Given the description of an element on the screen output the (x, y) to click on. 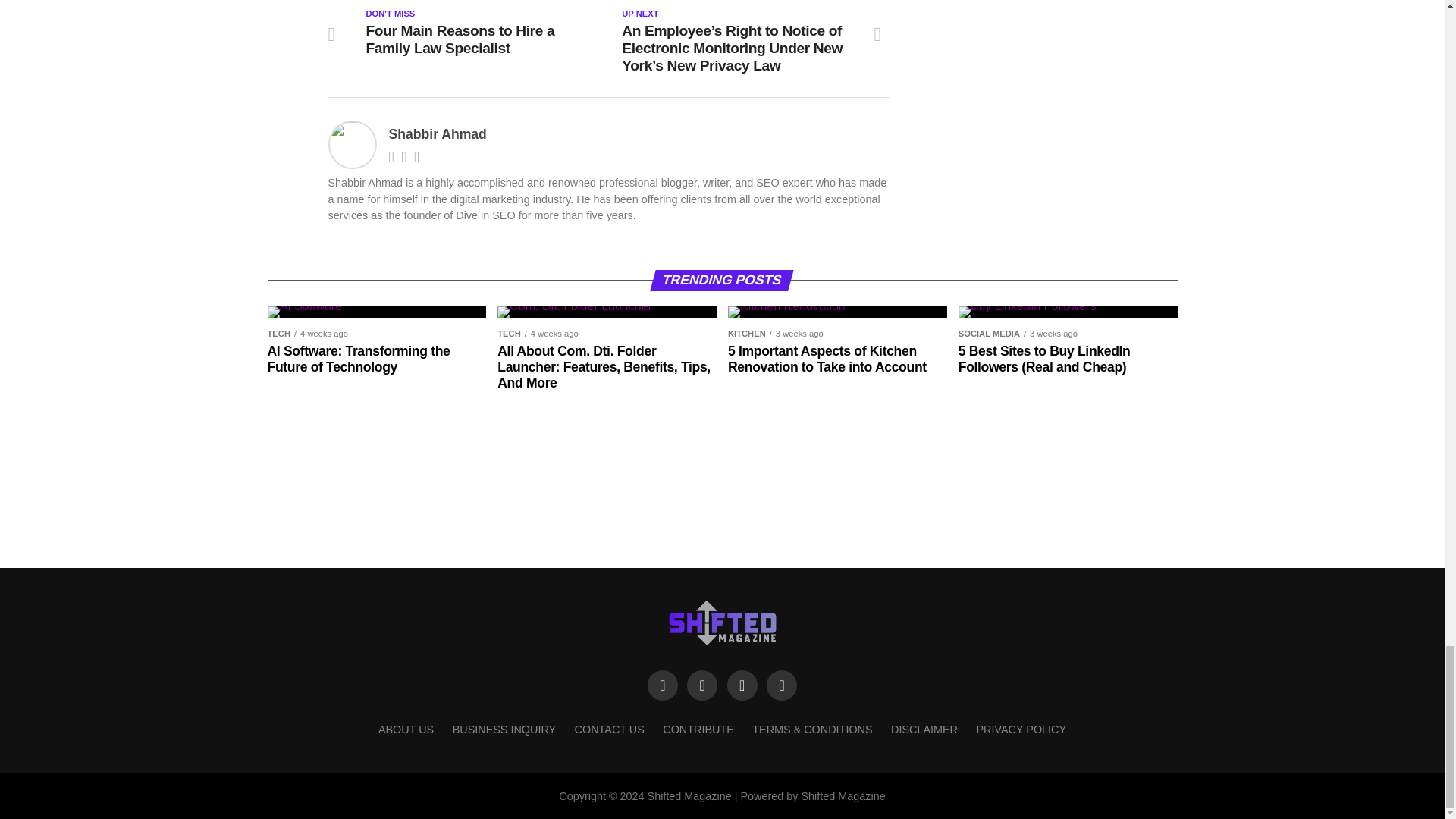
Posts by Shabbir Ahmad (437, 133)
